Given the description of an element on the screen output the (x, y) to click on. 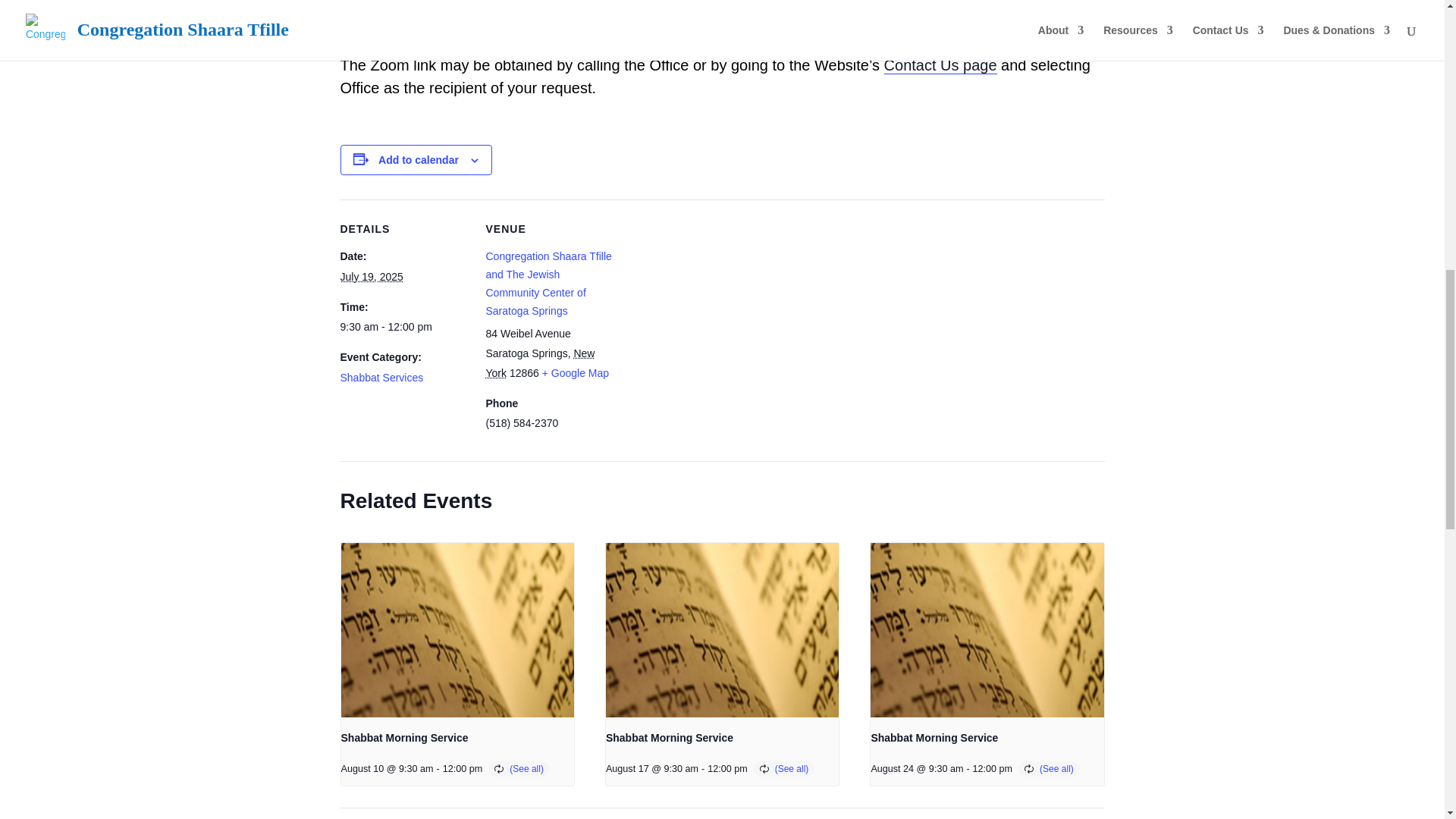
Click to view a Google Map (574, 372)
Contact Us page (940, 65)
2025-07-19 (371, 276)
Shabbat Morning Service (404, 737)
New York (539, 363)
Add to calendar (418, 159)
Shabbat Services (381, 377)
2025-07-19 (403, 327)
